Given the description of an element on the screen output the (x, y) to click on. 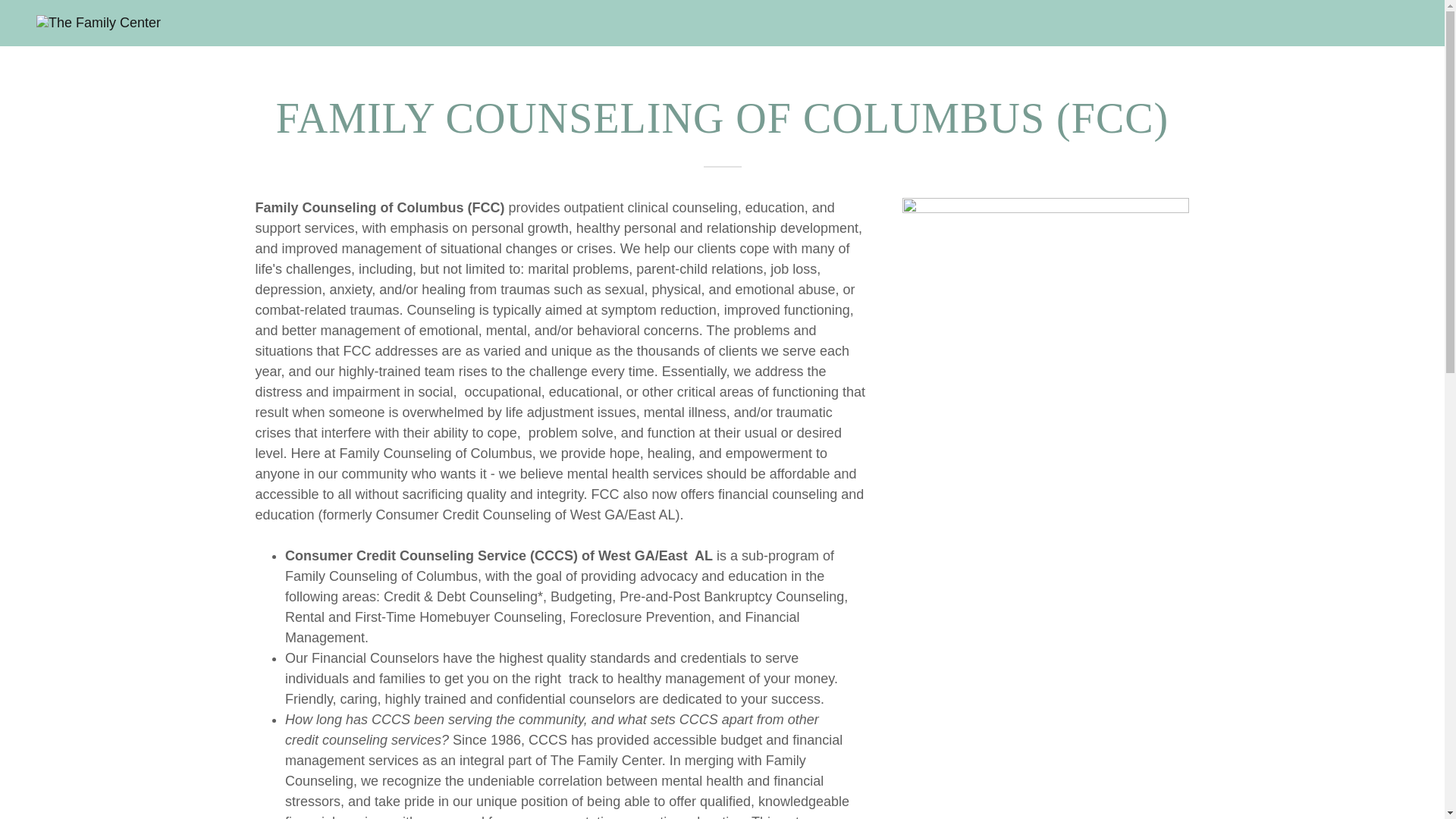
The Family Center (98, 22)
